Given the description of an element on the screen output the (x, y) to click on. 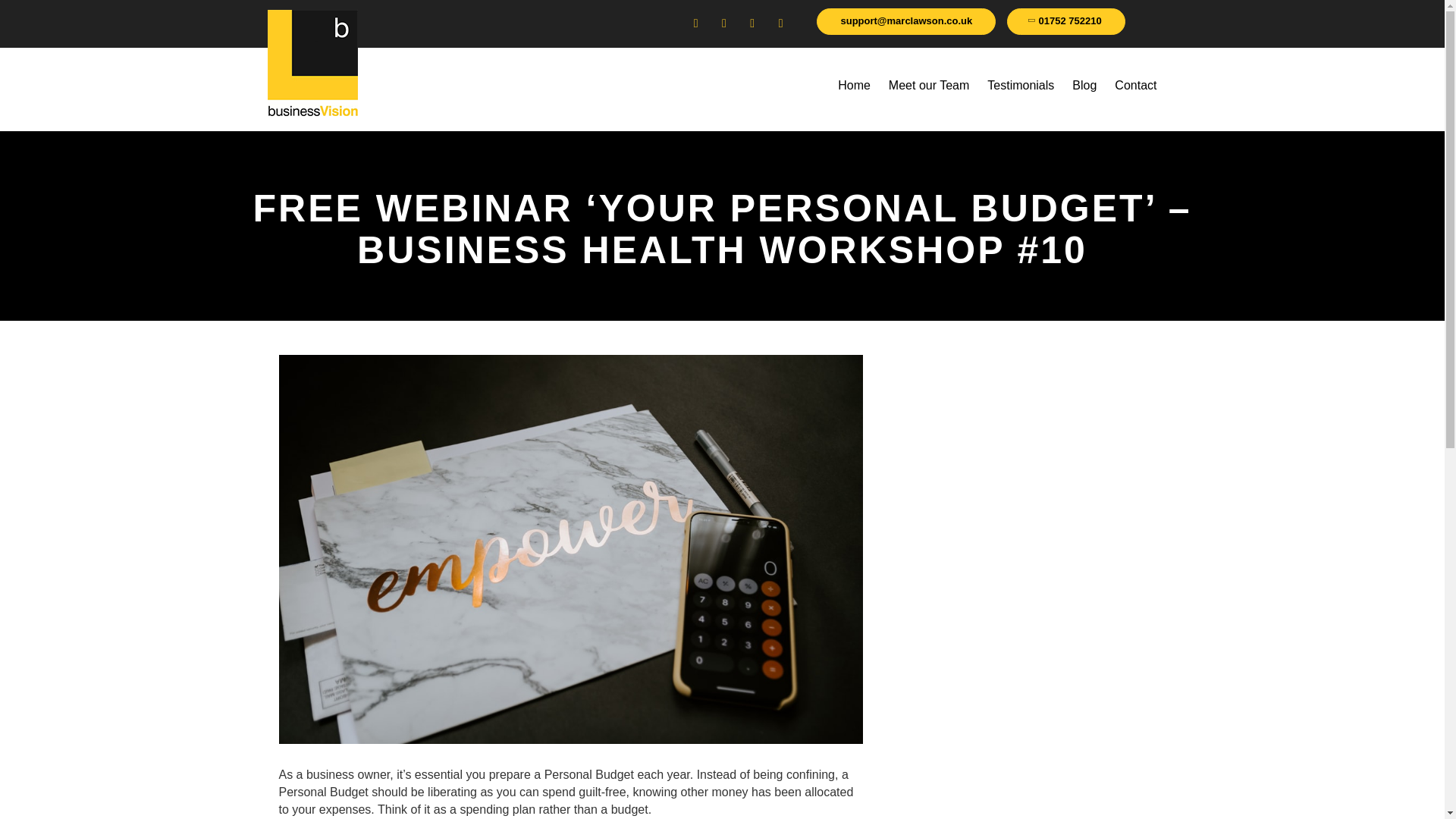
Contact (1135, 85)
Meet our Team (928, 85)
Home (853, 85)
Testimonials (1020, 85)
01752 752210 (1066, 21)
Blog (1083, 85)
